Given the description of an element on the screen output the (x, y) to click on. 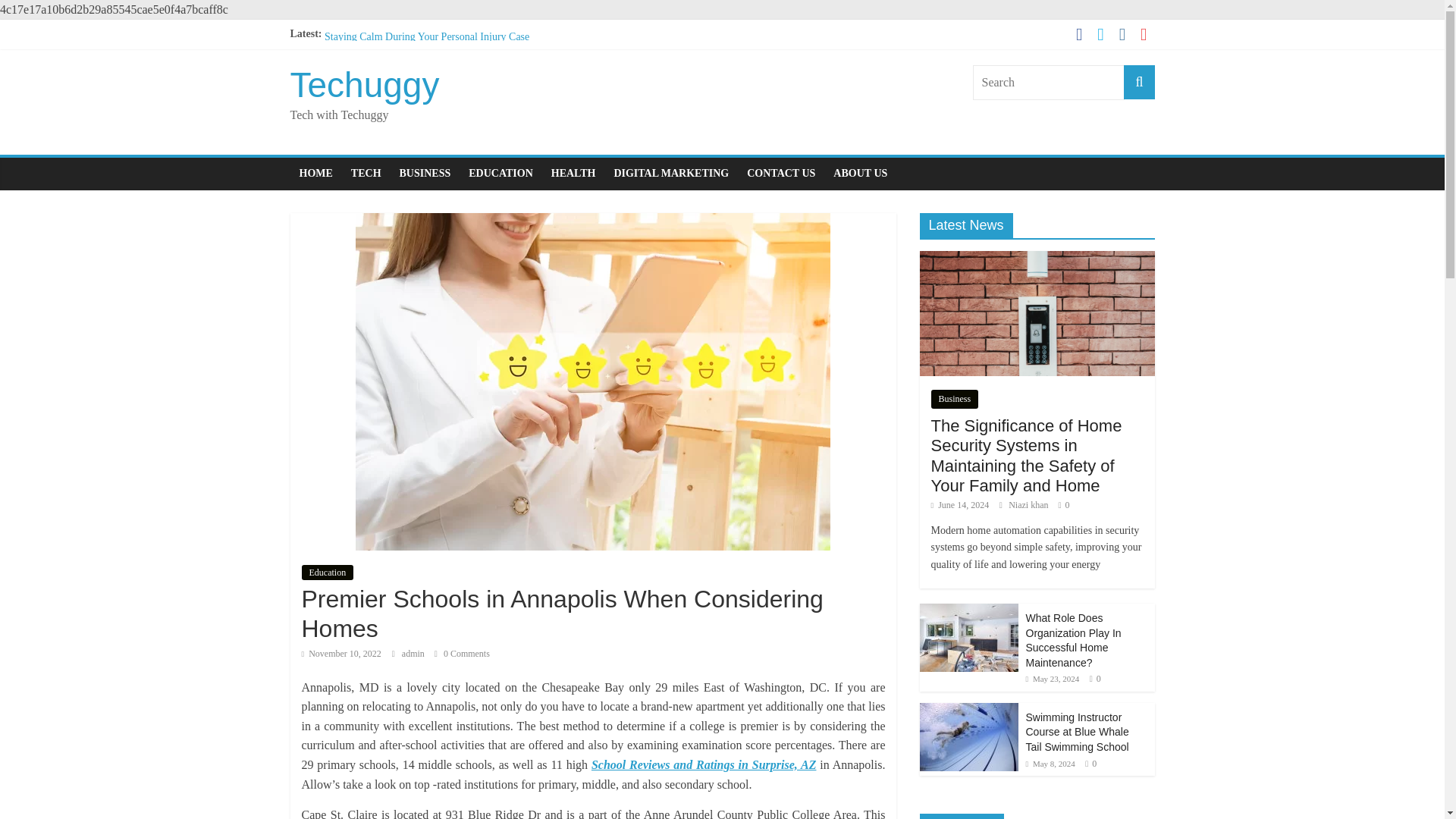
Is Pet Insurance Worth It? (379, 52)
School Reviews and Ratings in Surprise, AZ (703, 764)
Techuggy (364, 84)
Business (954, 398)
HEALTH (573, 173)
ABOUT US (860, 173)
0 Comments (461, 653)
4:49 pm (960, 504)
